Given the description of an element on the screen output the (x, y) to click on. 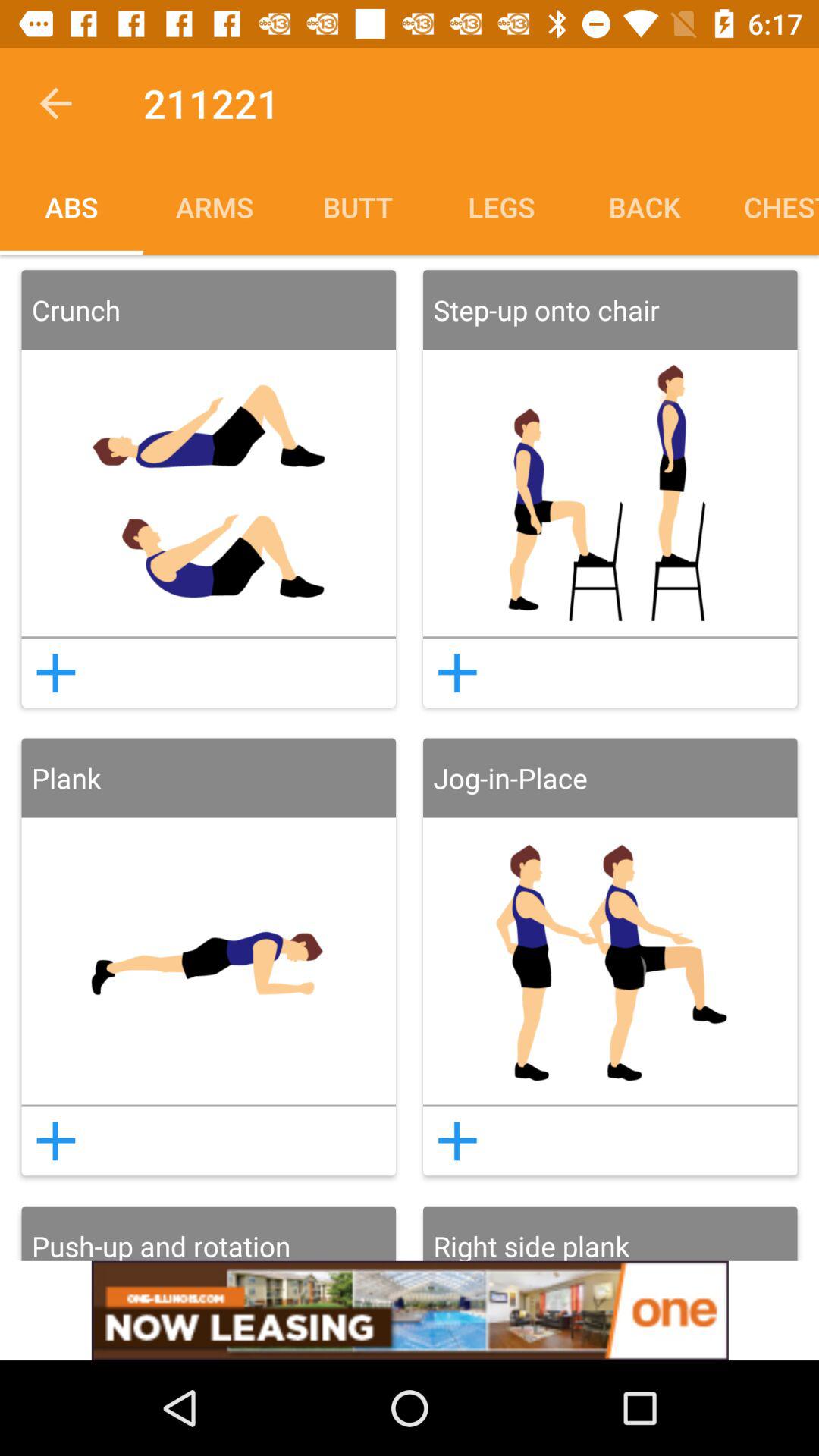
add to routine (55, 1140)
